Given the description of an element on the screen output the (x, y) to click on. 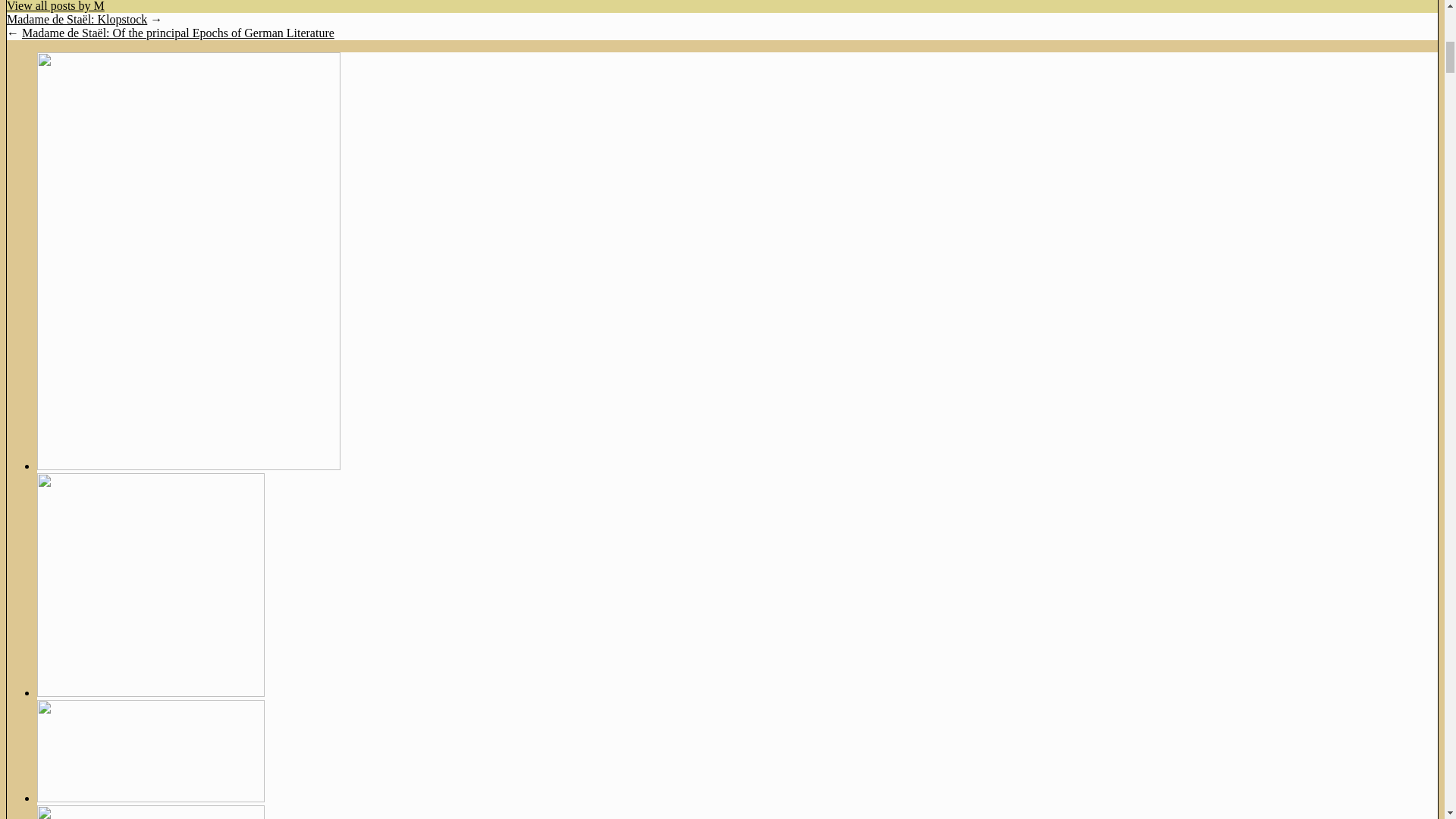
View all posts by M (55, 6)
